Given the description of an element on the screen output the (x, y) to click on. 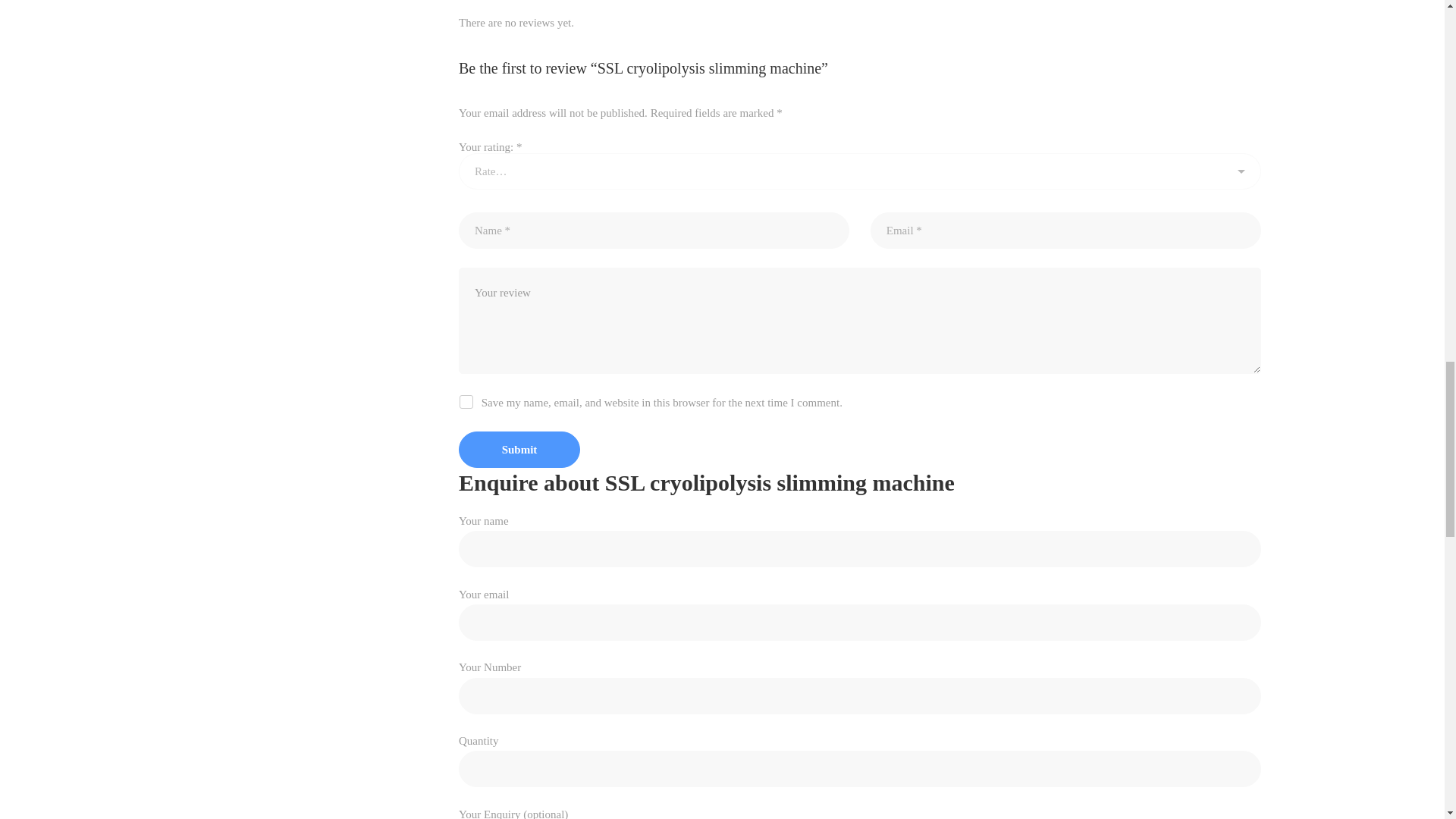
Submit (518, 449)
yes (465, 401)
